Given the description of an element on the screen output the (x, y) to click on. 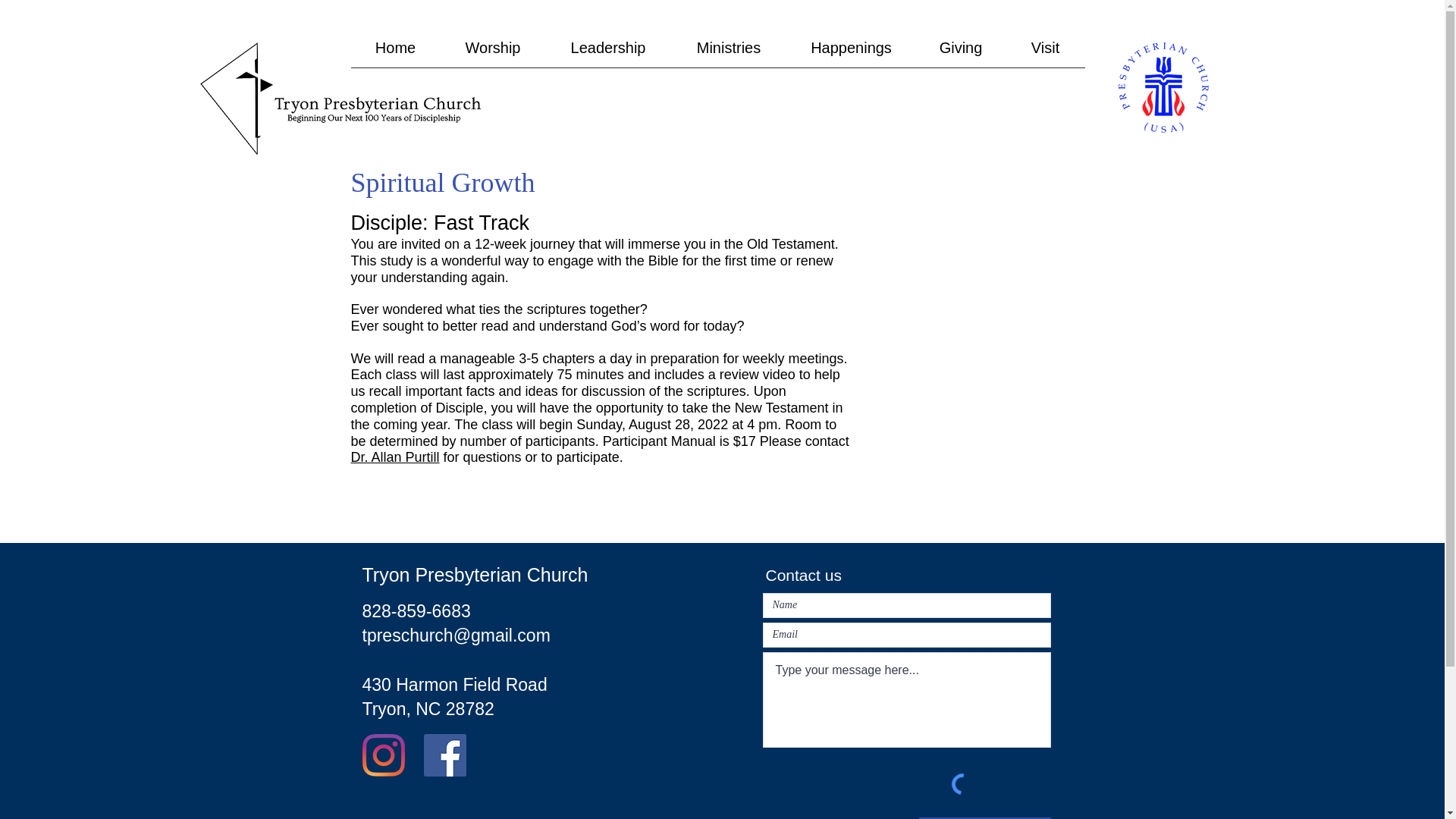
Giving (960, 51)
Home (394, 51)
Worship (491, 51)
Visit (1045, 51)
Happenings (851, 51)
Submit (984, 818)
Ministries (727, 51)
Leadership (608, 51)
Dr. Allan Purtill (394, 457)
